Given the description of an element on the screen output the (x, y) to click on. 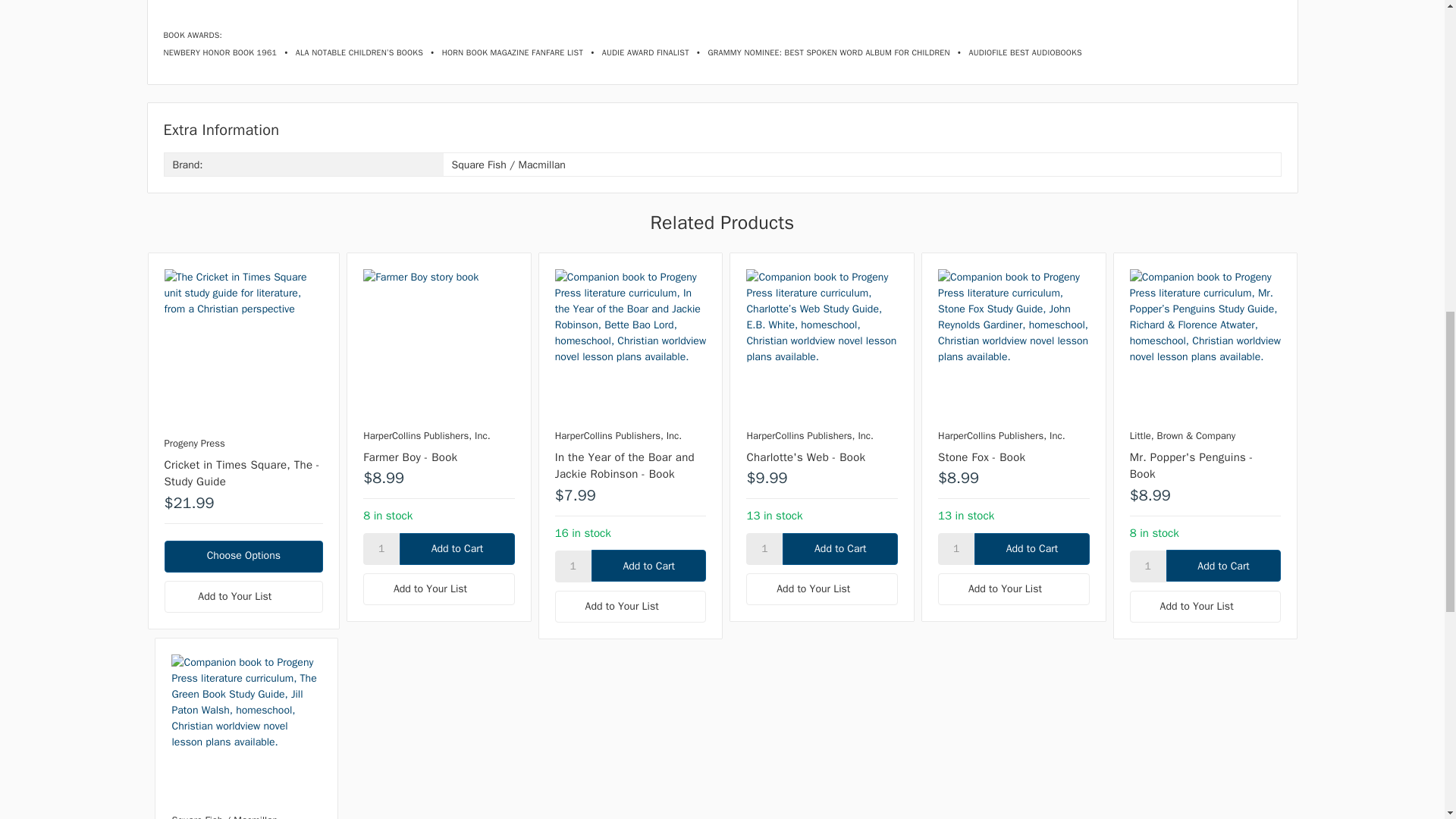
Add to Your List (630, 606)
Add to Cart (840, 549)
Add to Your List (1205, 606)
Add to Cart (1223, 565)
Add to Your List (1013, 589)
1 (764, 549)
Add to Your List (821, 589)
Farmer Boy story book (438, 344)
Add to Your List (243, 596)
Add to Cart (456, 549)
1 (955, 549)
1 (1147, 566)
1 (380, 549)
